Given the description of an element on the screen output the (x, y) to click on. 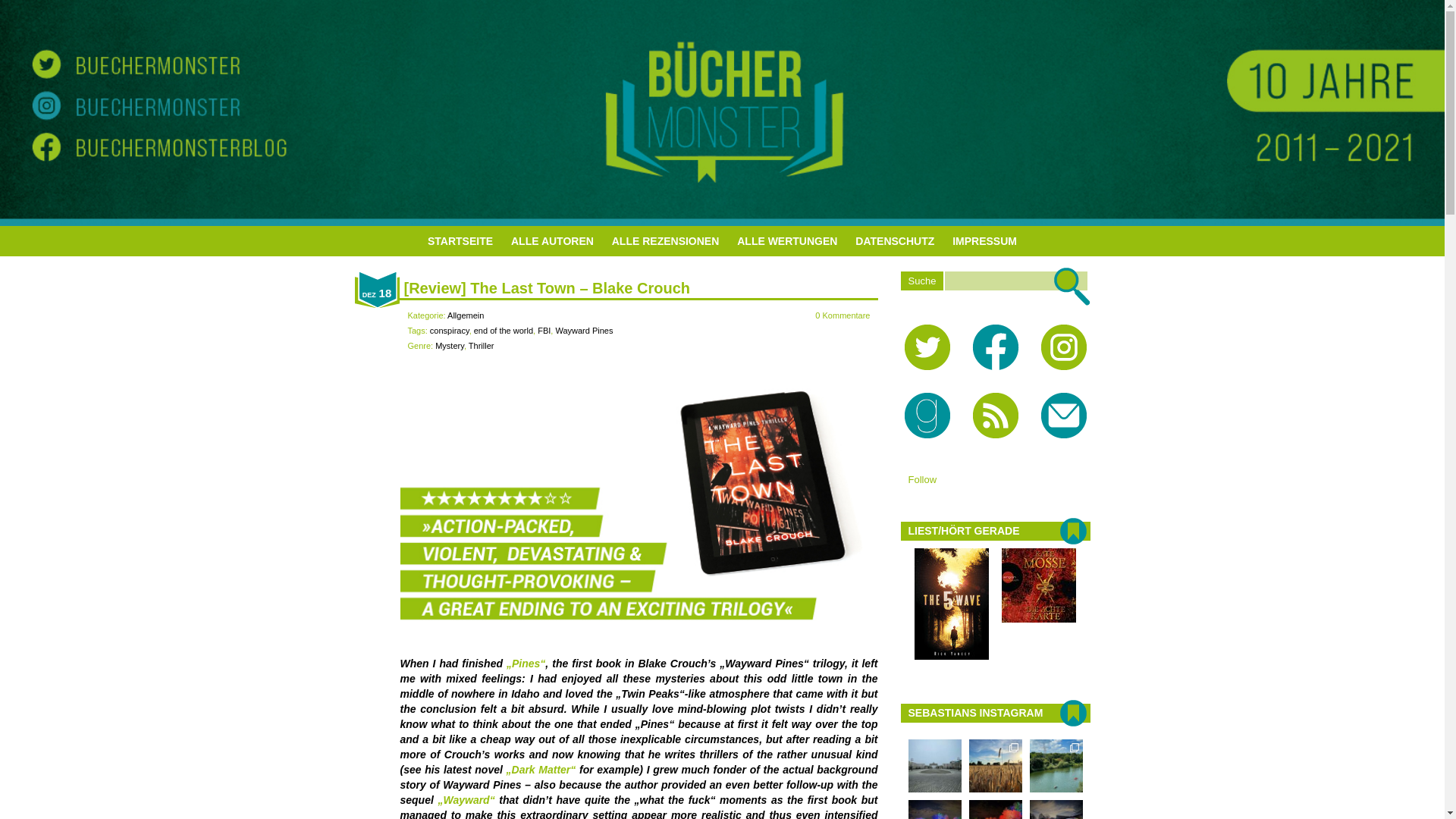
Wayward Pines (583, 329)
FBI (543, 329)
end of the world (503, 329)
ALLE REZENSIONEN (665, 241)
ALLE WERTUNGEN (786, 241)
ALLE AUTOREN (552, 241)
Thriller (481, 345)
Allgemein (464, 315)
DATENSCHUTZ (895, 241)
Die achte Karte (1038, 618)
STARTSEITE (460, 241)
Follow (922, 479)
conspiracy (448, 329)
Mystery (449, 345)
IMPRESSUM (984, 241)
